Given the description of an element on the screen output the (x, y) to click on. 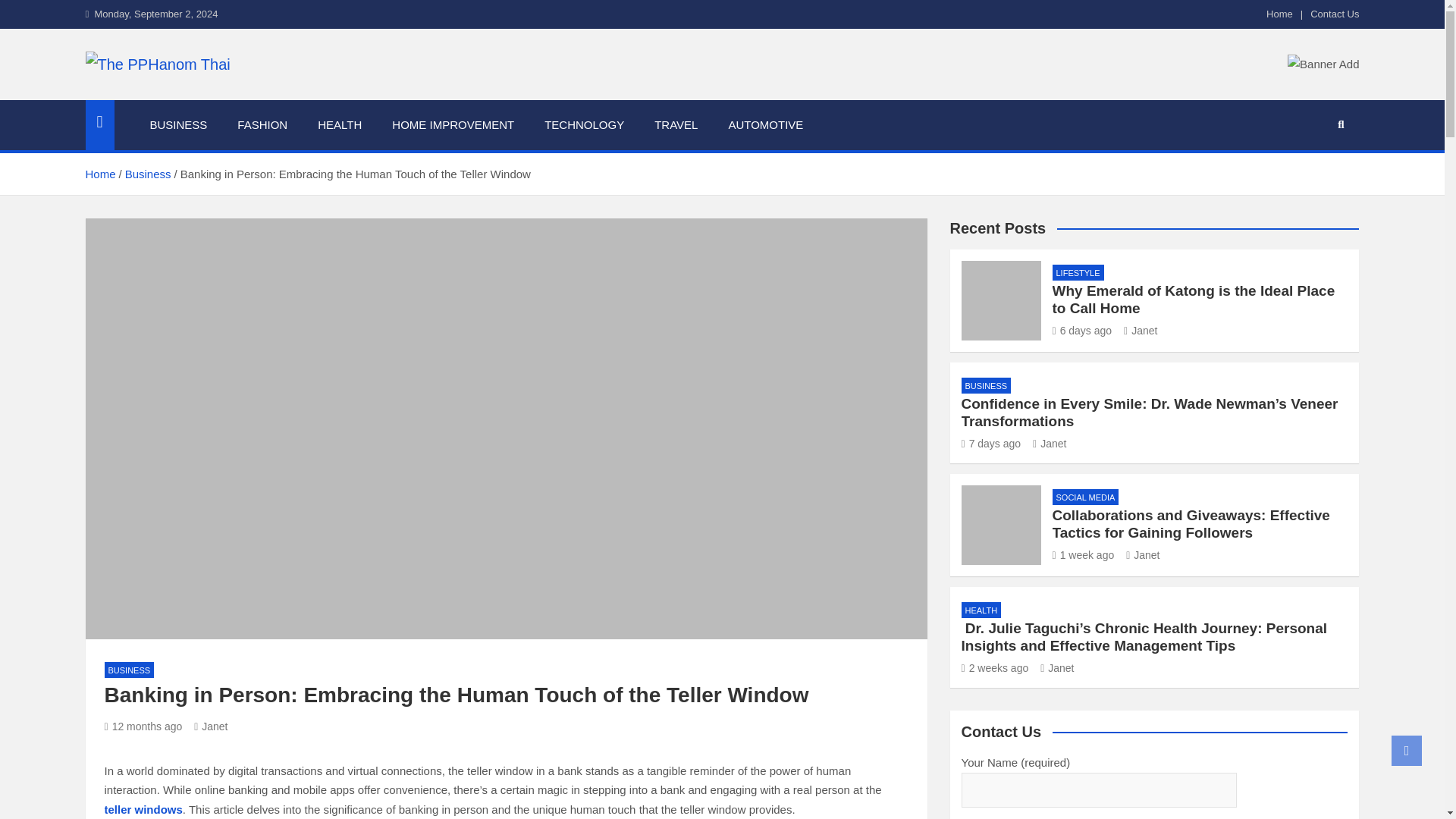
7 days ago (991, 443)
1 week ago (1083, 554)
Janet (1048, 443)
AUTOMOTIVE (765, 124)
FASHION (262, 124)
teller windows (143, 809)
Janet (210, 726)
SOCIAL MEDIA (1085, 496)
TRAVEL (676, 124)
